Given the description of an element on the screen output the (x, y) to click on. 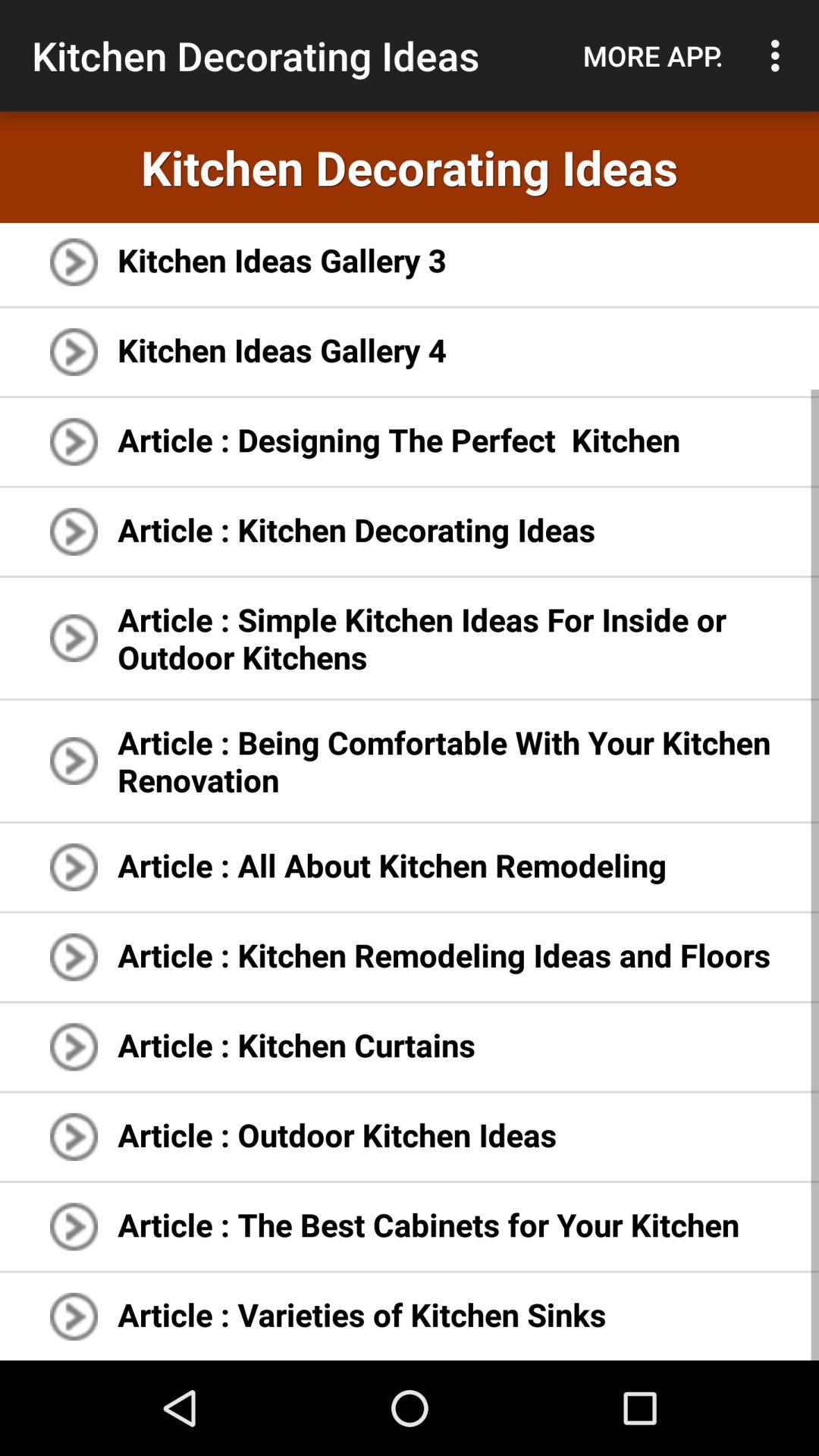
choose item next to the more app. (779, 55)
